Given the description of an element on the screen output the (x, y) to click on. 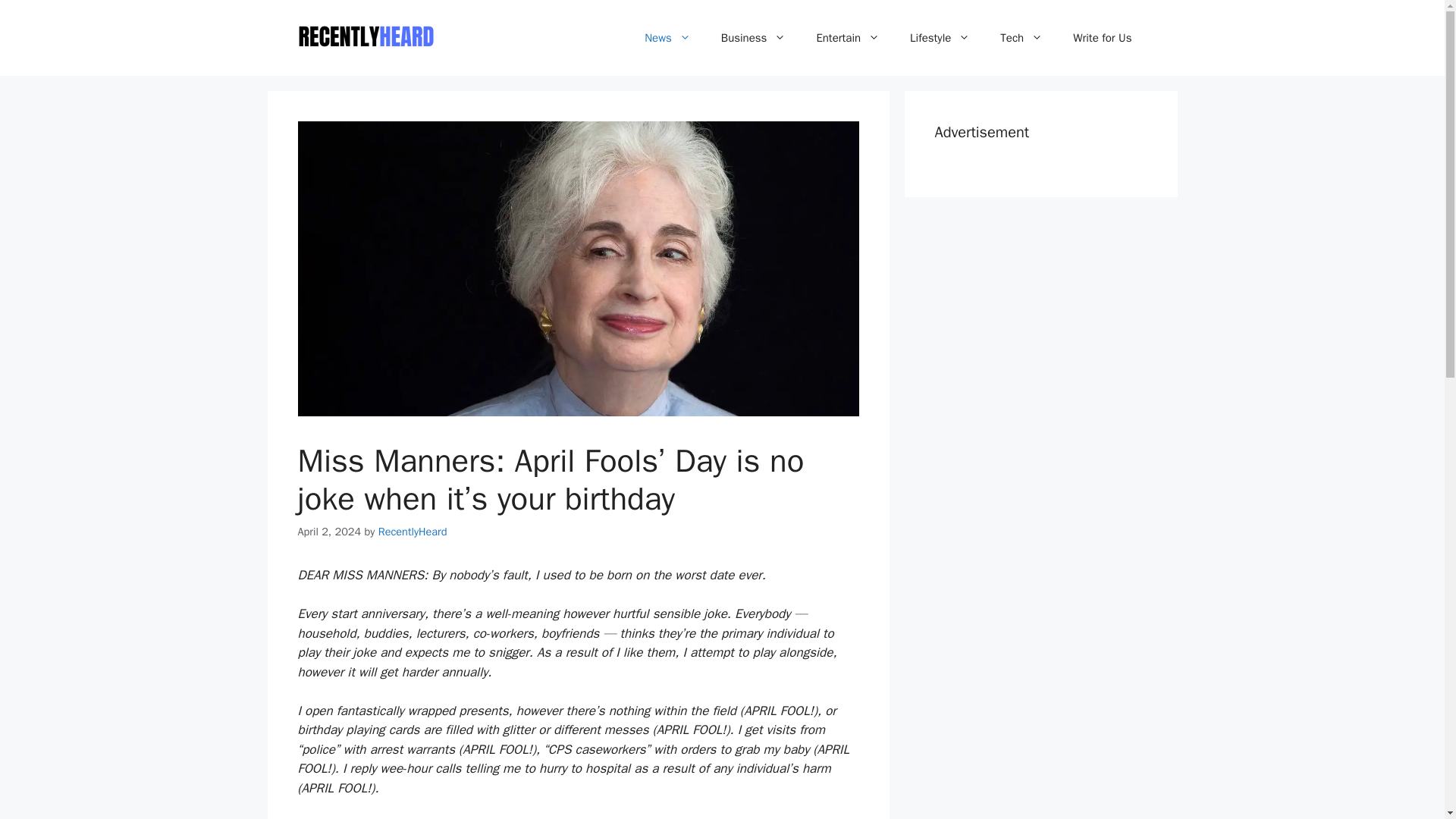
Business (754, 37)
RecentlyHeard (412, 531)
View all posts by RecentlyHeard (412, 531)
Write for Us (1102, 37)
Tech (1021, 37)
News (667, 37)
Entertain (847, 37)
Lifestyle (940, 37)
